Given the description of an element on the screen output the (x, y) to click on. 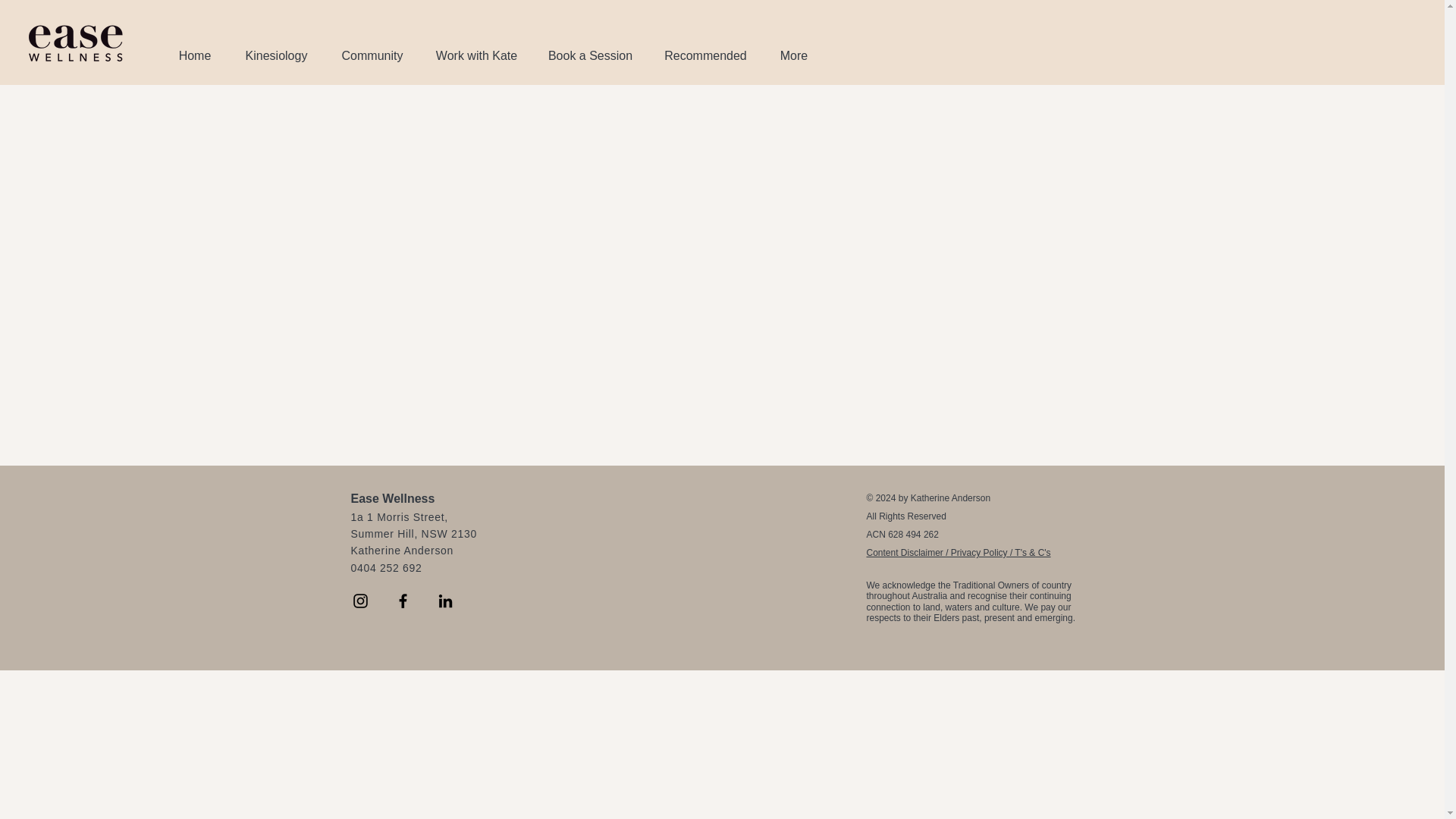
Home (194, 55)
Community (372, 55)
Book a Session (589, 55)
Kinesiology (276, 55)
Work with Kate (476, 55)
Recommended (704, 55)
